Given the description of an element on the screen output the (x, y) to click on. 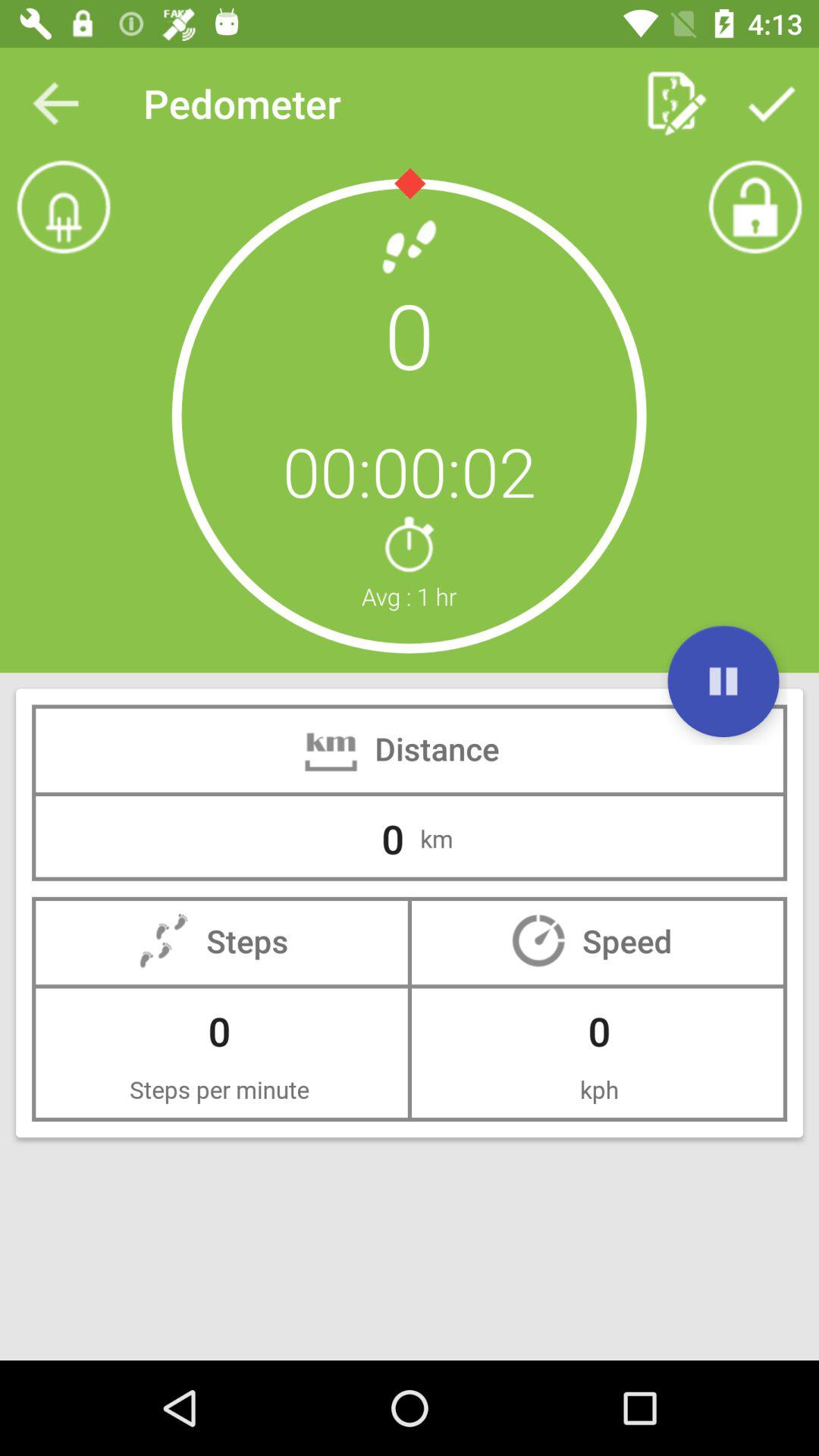
click the item below 0 item (723, 681)
